Given the description of an element on the screen output the (x, y) to click on. 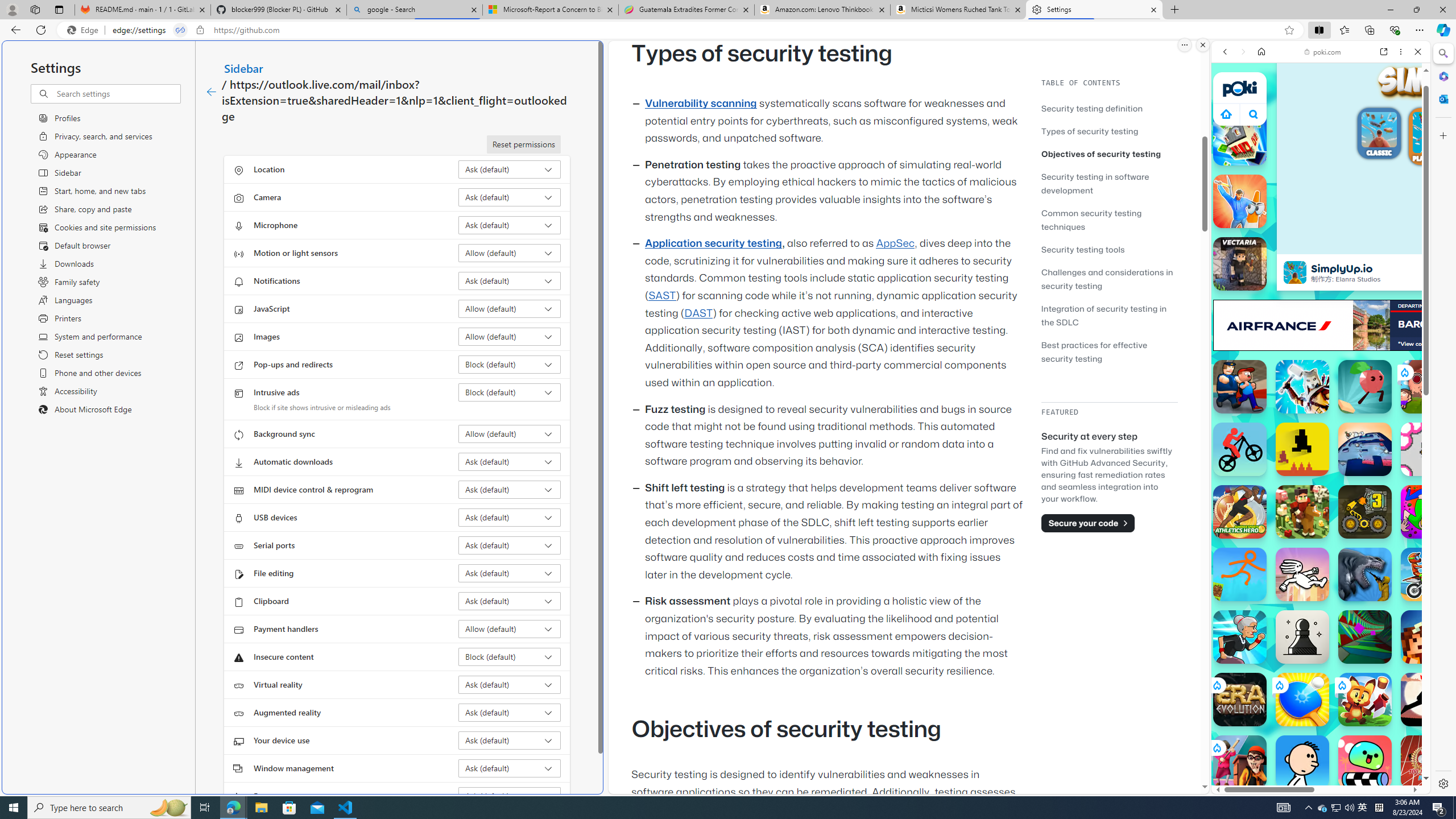
Search Filter, Search Tools (1350, 129)
CLASSIC (1378, 134)
Vectaria.io Vectaria.io (1239, 263)
Intrusive ads Block (default) (509, 392)
Apple Knight: Farmers Market Apple Knight: Farmers Market (1302, 511)
MIDI device control & reprogram Ask (default) (509, 489)
Close split screen. (1202, 45)
Images Allow (default) (509, 336)
VIDEOS (1300, 130)
Vectaria.io (1239, 263)
Automatic downloads Ask (default) (509, 461)
Moto X3M (1427, 574)
